Given the description of an element on the screen output the (x, y) to click on. 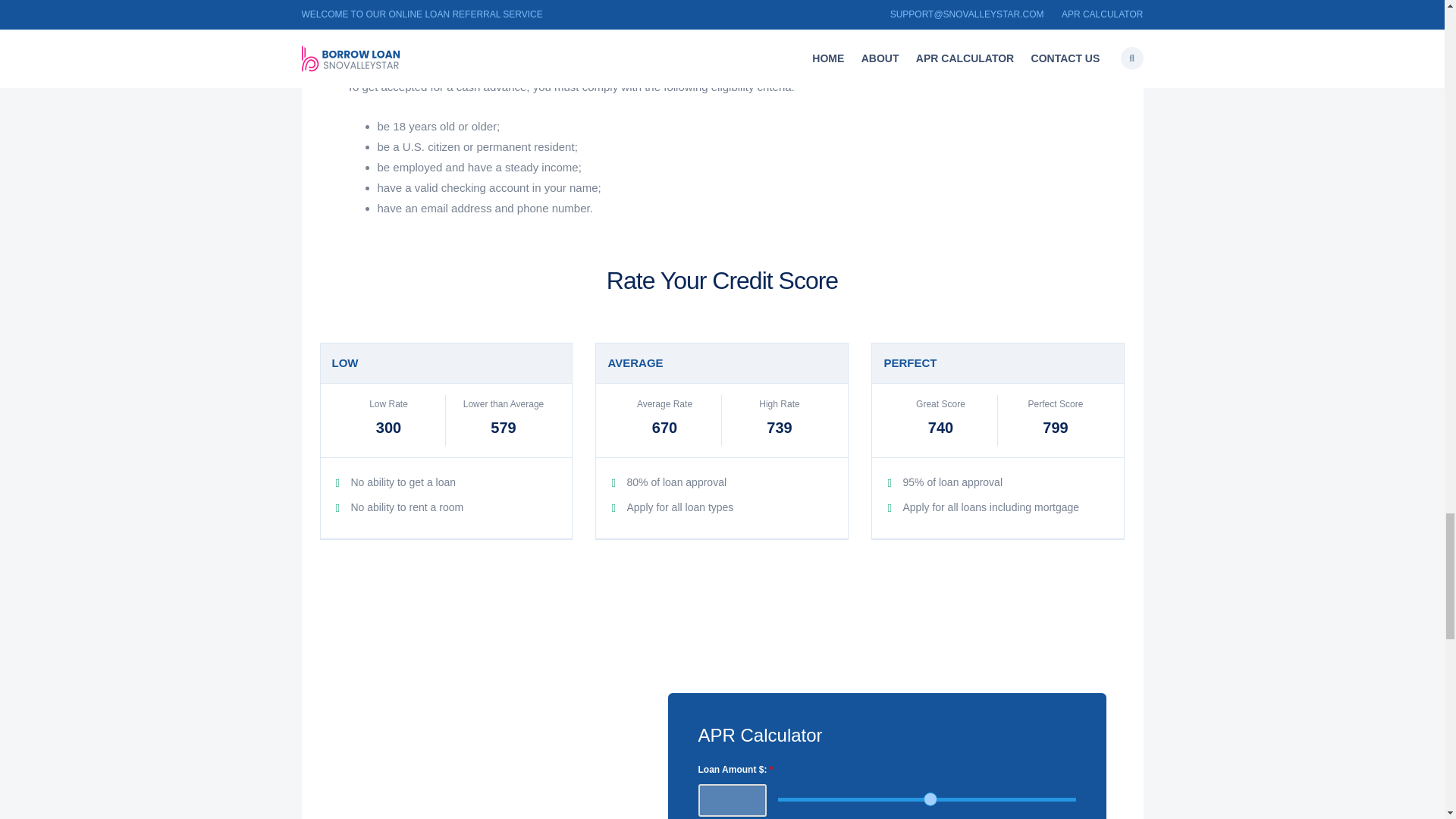
2600 (926, 799)
